Given the description of an element on the screen output the (x, y) to click on. 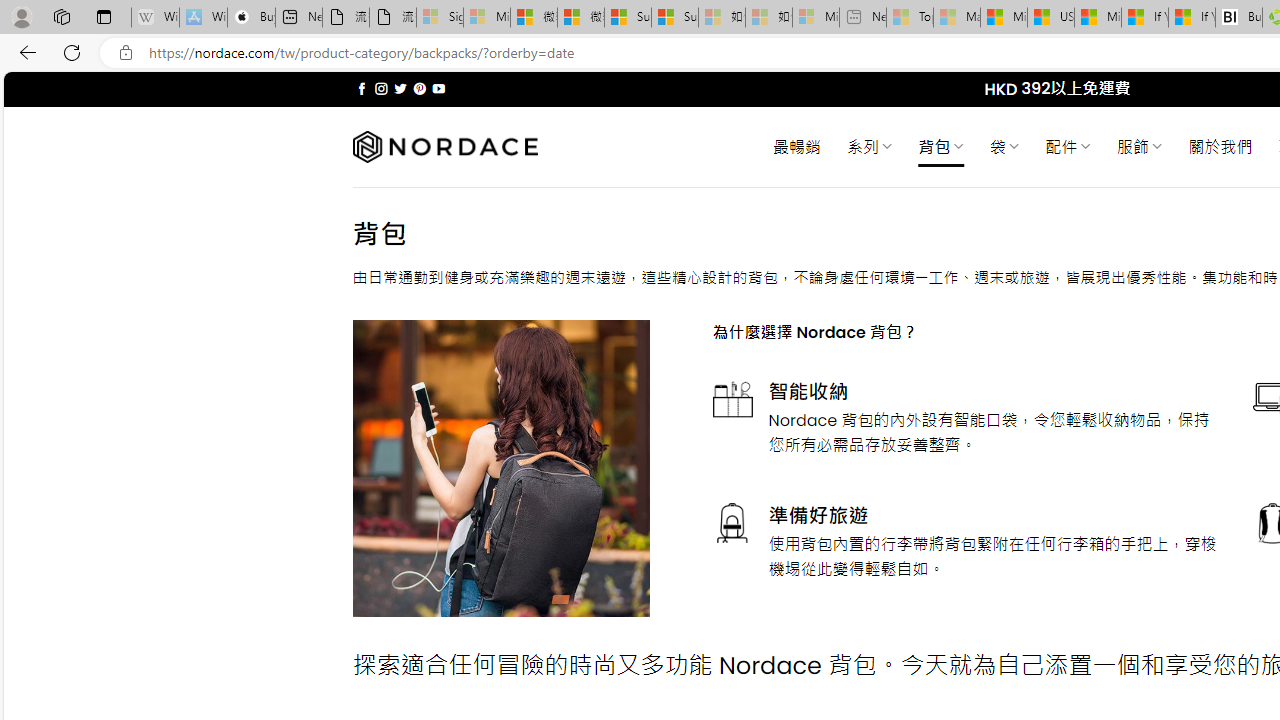
Follow on Pinterest (419, 88)
Follow on YouTube (438, 88)
Top Stories - MSN - Sleeping (910, 17)
US Heat Deaths Soared To Record High Last Year (1050, 17)
